Given the description of an element on the screen output the (x, y) to click on. 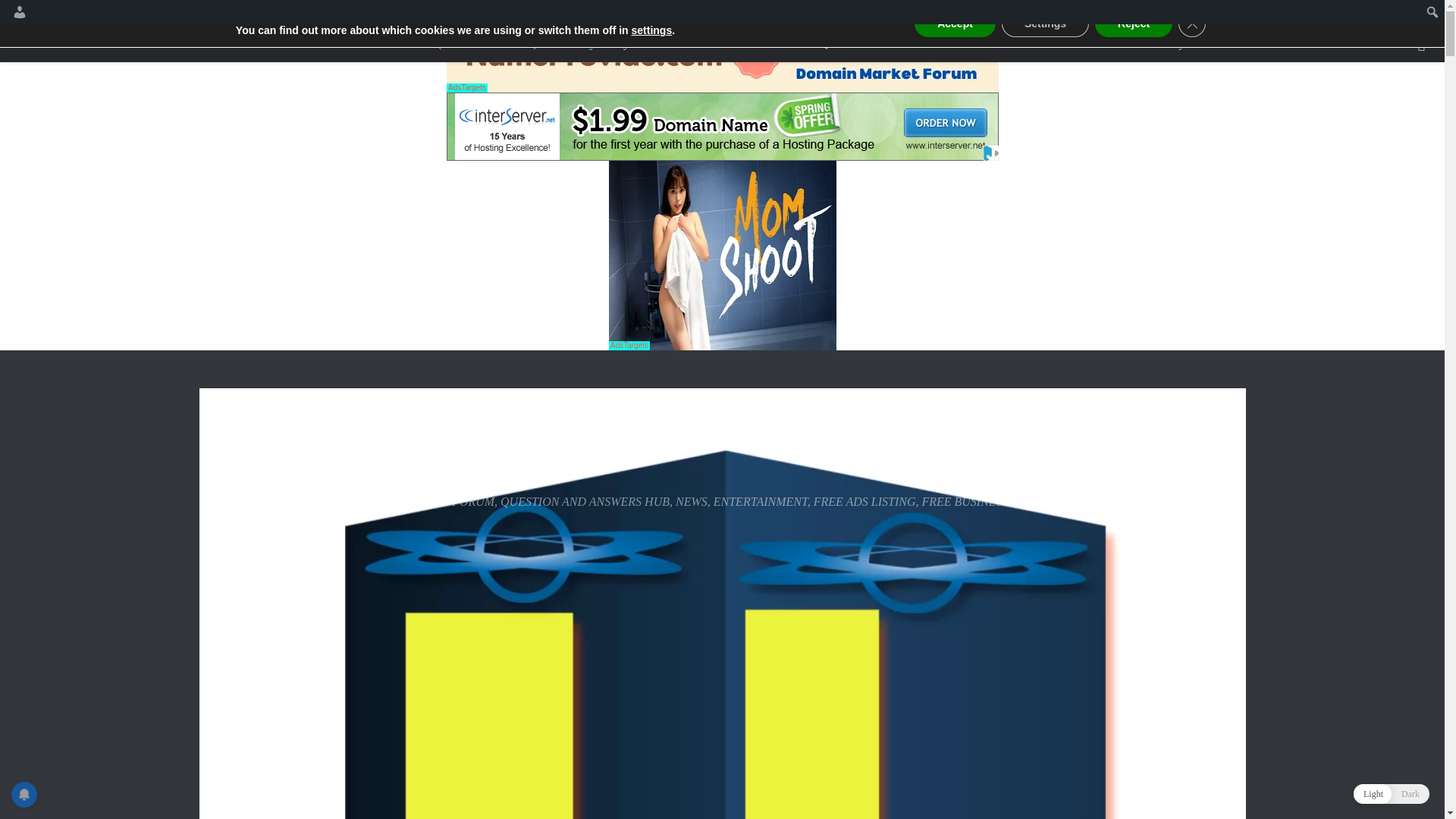
Soccer Livescores (1101, 43)
Contact us (351, 43)
Privacy Policy (593, 43)
Advertise With Us (991, 43)
Home (223, 43)
My Account (1198, 43)
Search (15, 12)
About us (282, 43)
Terms and Conditions (704, 43)
INFINITY LOADED (363, 441)
